Given the description of an element on the screen output the (x, y) to click on. 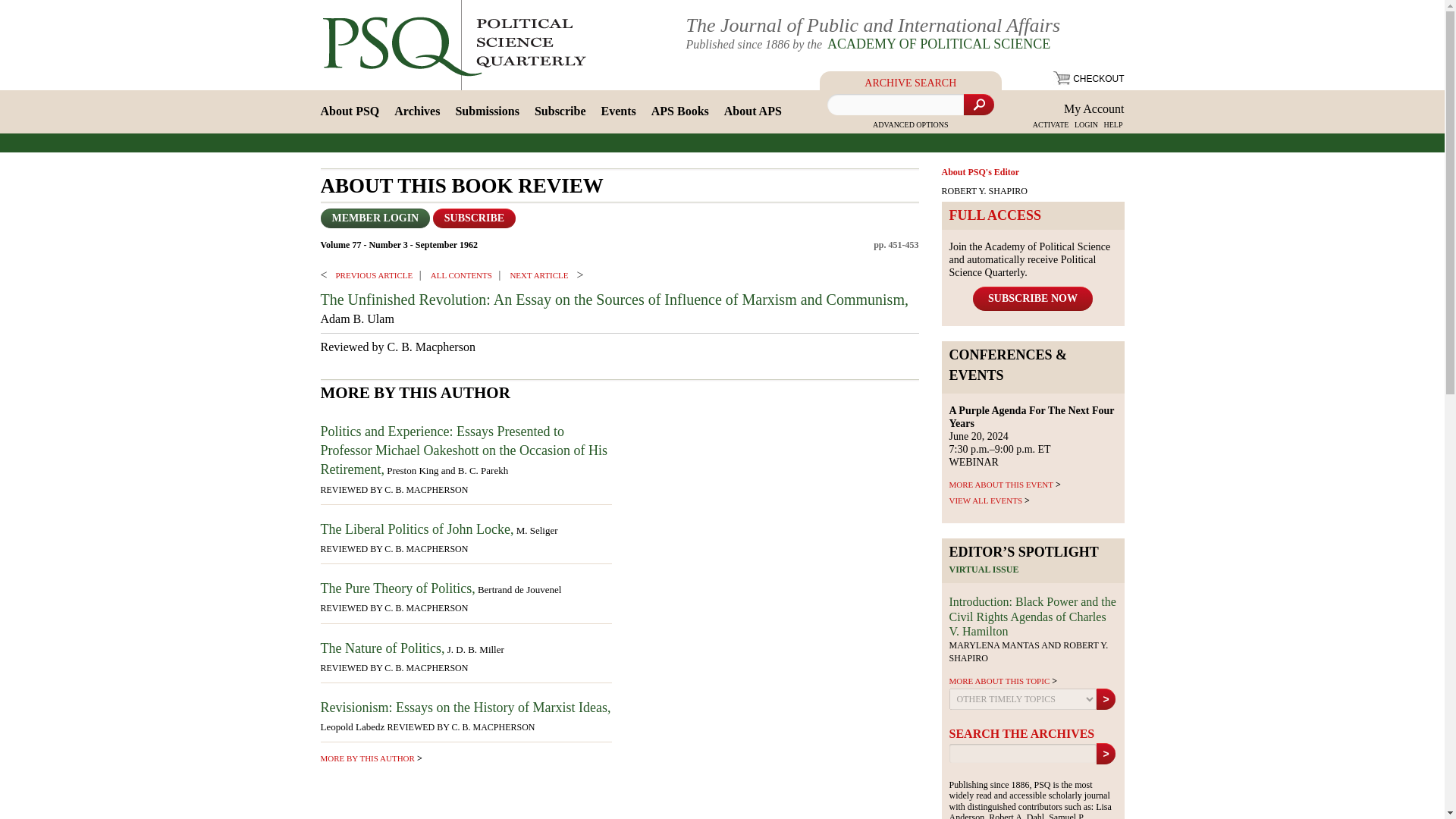
ACADEMY OF POLITICAL SCIENCE (937, 43)
CHECKOUT (1088, 78)
